Given the description of an element on the screen output the (x, y) to click on. 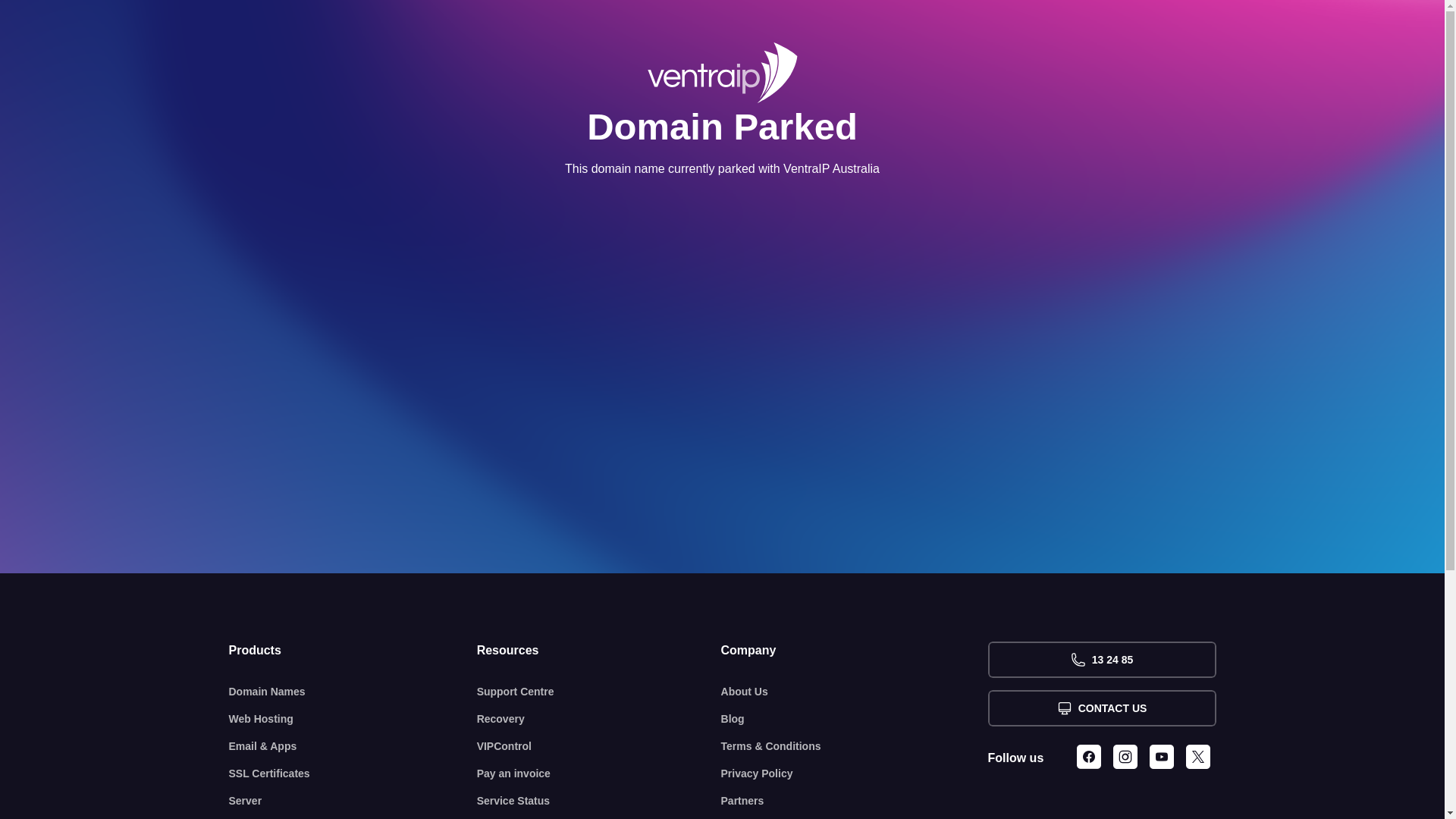
Domain Names Element type: text (352, 691)
Pay an invoice Element type: text (598, 773)
Service Status Element type: text (598, 800)
SSL Certificates Element type: text (352, 773)
Email & Apps Element type: text (352, 745)
Recovery Element type: text (598, 718)
Web Hosting Element type: text (352, 718)
Blog Element type: text (854, 718)
13 24 85 Element type: text (1101, 659)
Server Element type: text (352, 800)
About Us Element type: text (854, 691)
Terms & Conditions Element type: text (854, 745)
Partners Element type: text (854, 800)
CONTACT US Element type: text (1101, 708)
VIPControl Element type: text (598, 745)
Privacy Policy Element type: text (854, 773)
Support Centre Element type: text (598, 691)
